Given the description of an element on the screen output the (x, y) to click on. 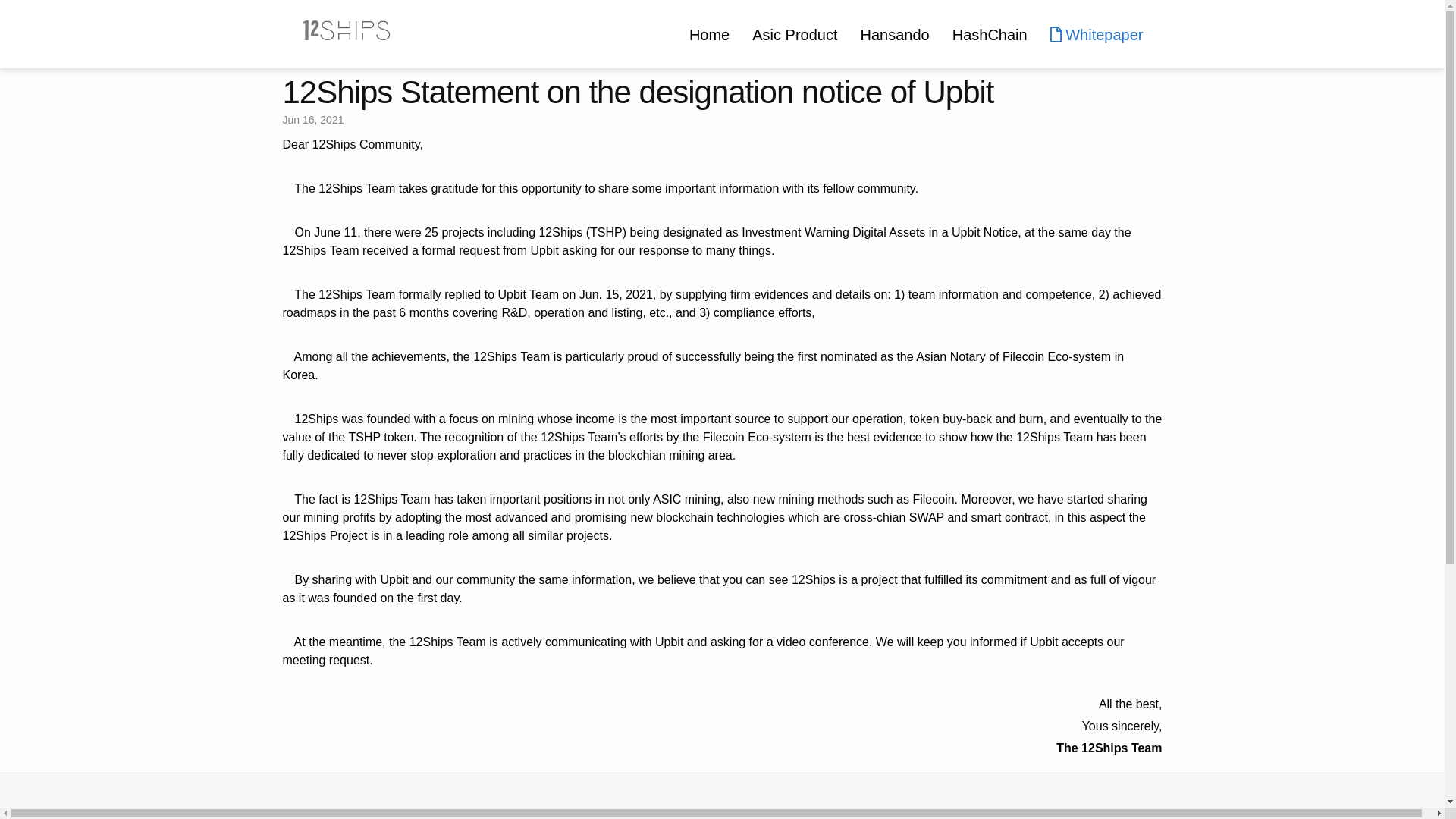
Asic Product Element type: text (794, 34)
Hansando Element type: text (895, 34)
HashChain Element type: text (989, 34)
Whitepaper Element type: text (1096, 34)
Home Element type: text (708, 34)
